Given the description of an element on the screen output the (x, y) to click on. 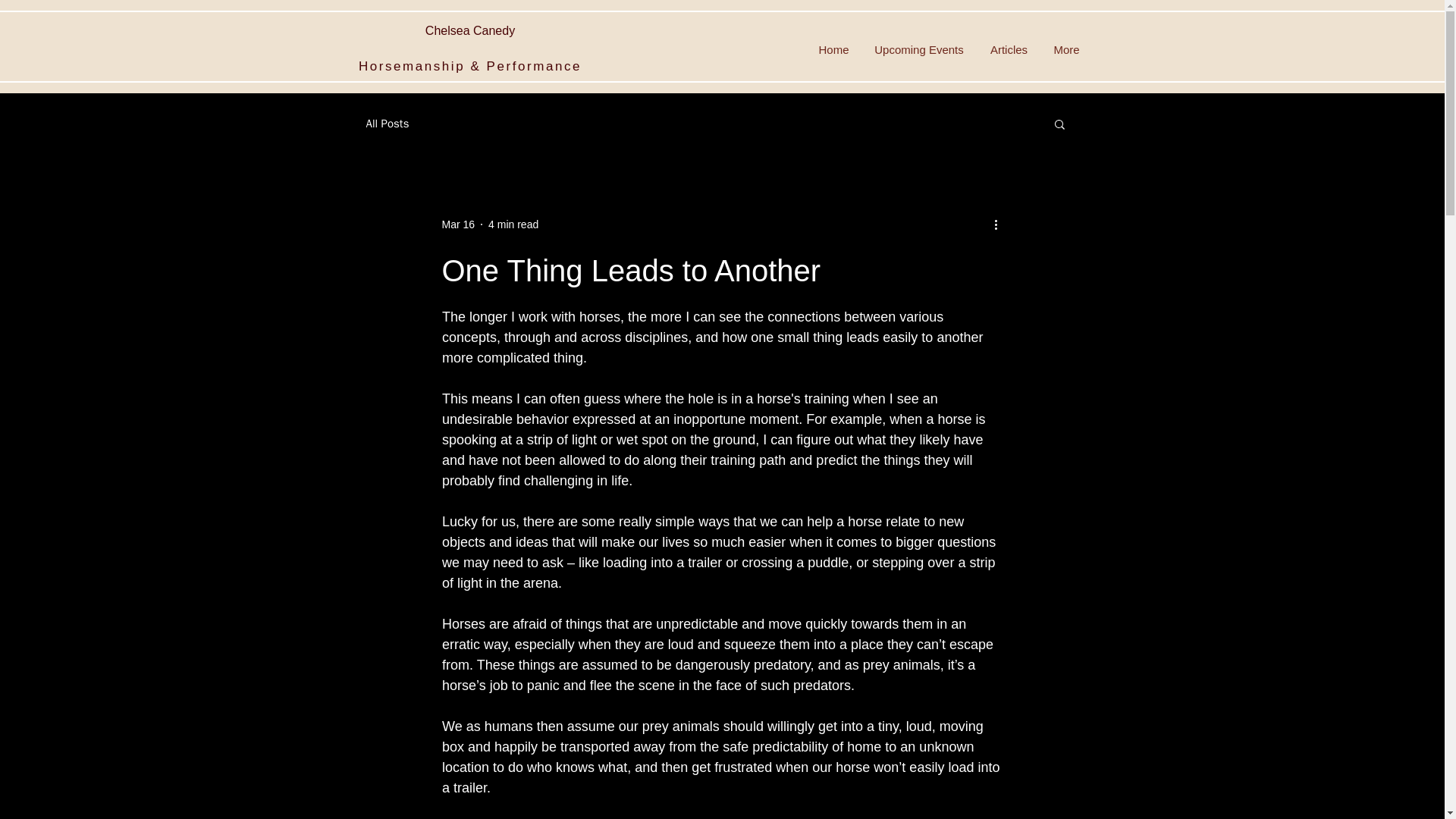
Articles (1008, 49)
4 min read (512, 224)
Upcoming Events (918, 49)
Home (833, 49)
Chelsea Canedy (470, 30)
All Posts (387, 124)
Mar 16 (457, 224)
